Given the description of an element on the screen output the (x, y) to click on. 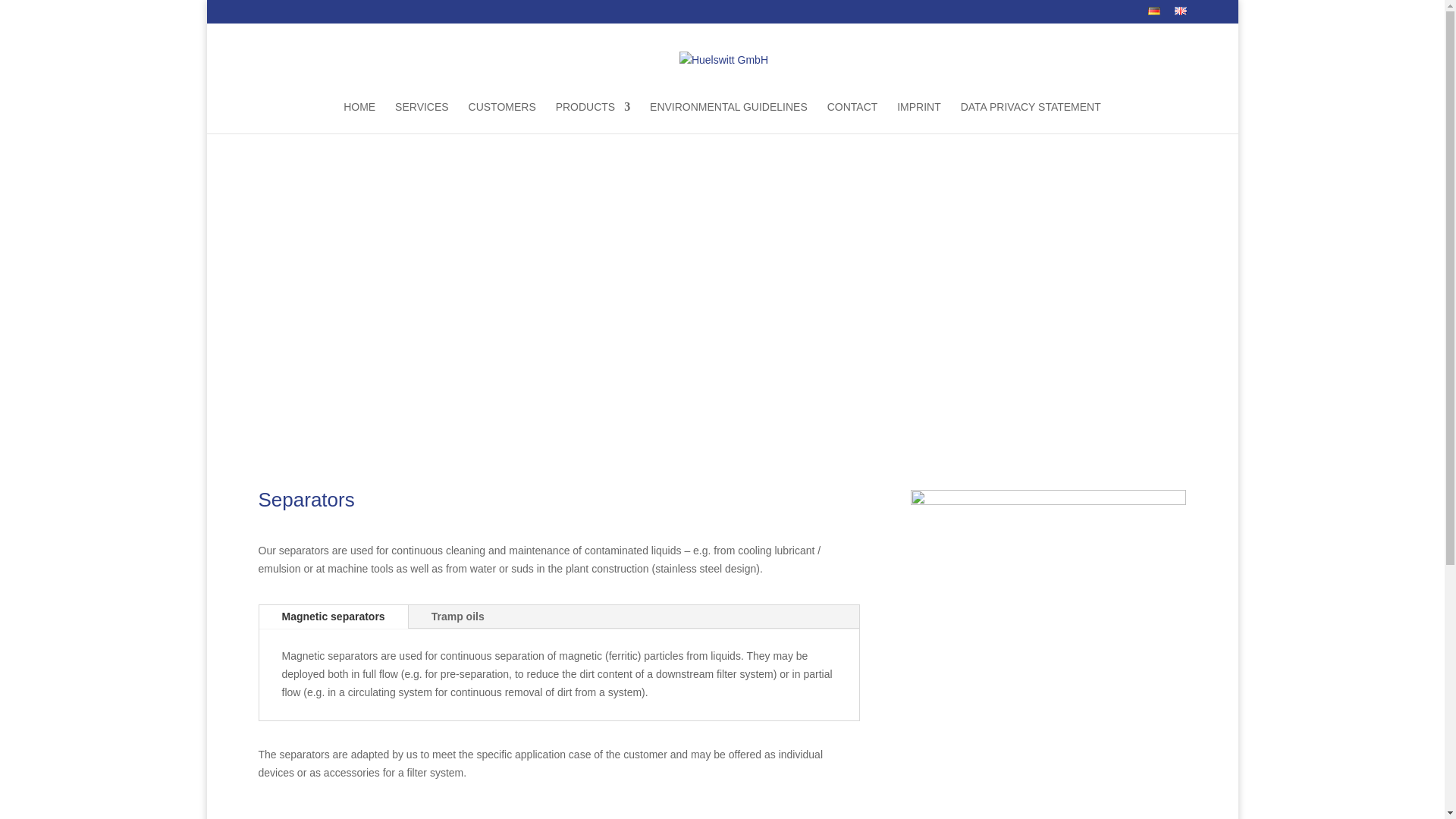
SERVICES (421, 117)
Magnetic separators (333, 617)
PRODUCTS (593, 117)
ENVIRONMENTAL GUIDELINES (728, 117)
IMPRINT (918, 117)
CUSTOMERS (501, 117)
DATA PRIVACY STATEMENT (1030, 117)
CONTACT (852, 117)
Tramp oils (457, 617)
HOME (359, 117)
